Given the description of an element on the screen output the (x, y) to click on. 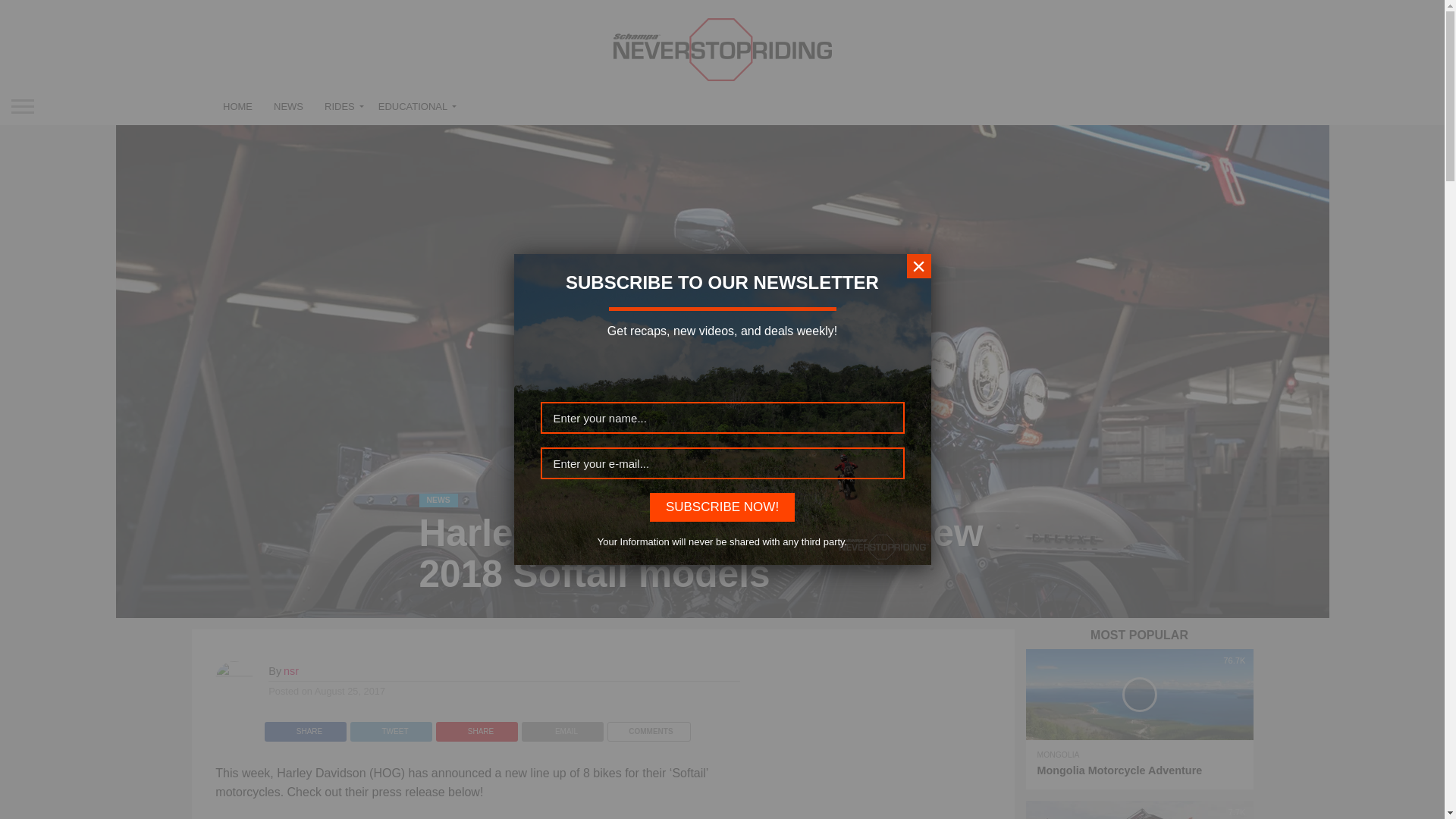
RIDES (341, 105)
HOME (237, 105)
Share on Facebook (305, 727)
EDUCATIONAL (414, 105)
NEWS (288, 105)
Posts by nsr (290, 671)
SHARE (305, 727)
Tweet This Post (390, 727)
EMAIL (562, 727)
Pin This Post (476, 727)
SHARE (476, 727)
NEWS (438, 498)
nsr (290, 671)
TWEET (390, 727)
COMMENTS (648, 727)
